Given the description of an element on the screen output the (x, y) to click on. 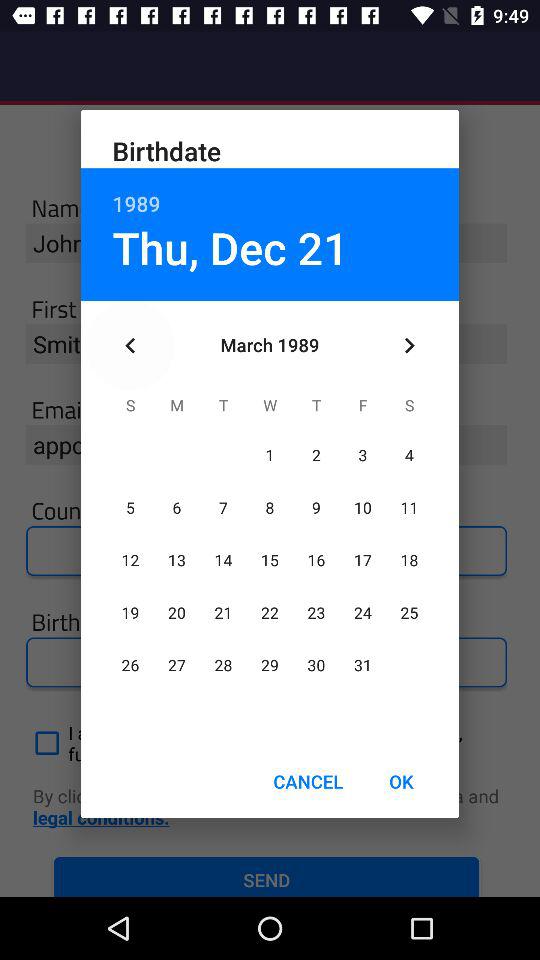
turn off ok (401, 781)
